Given the description of an element on the screen output the (x, y) to click on. 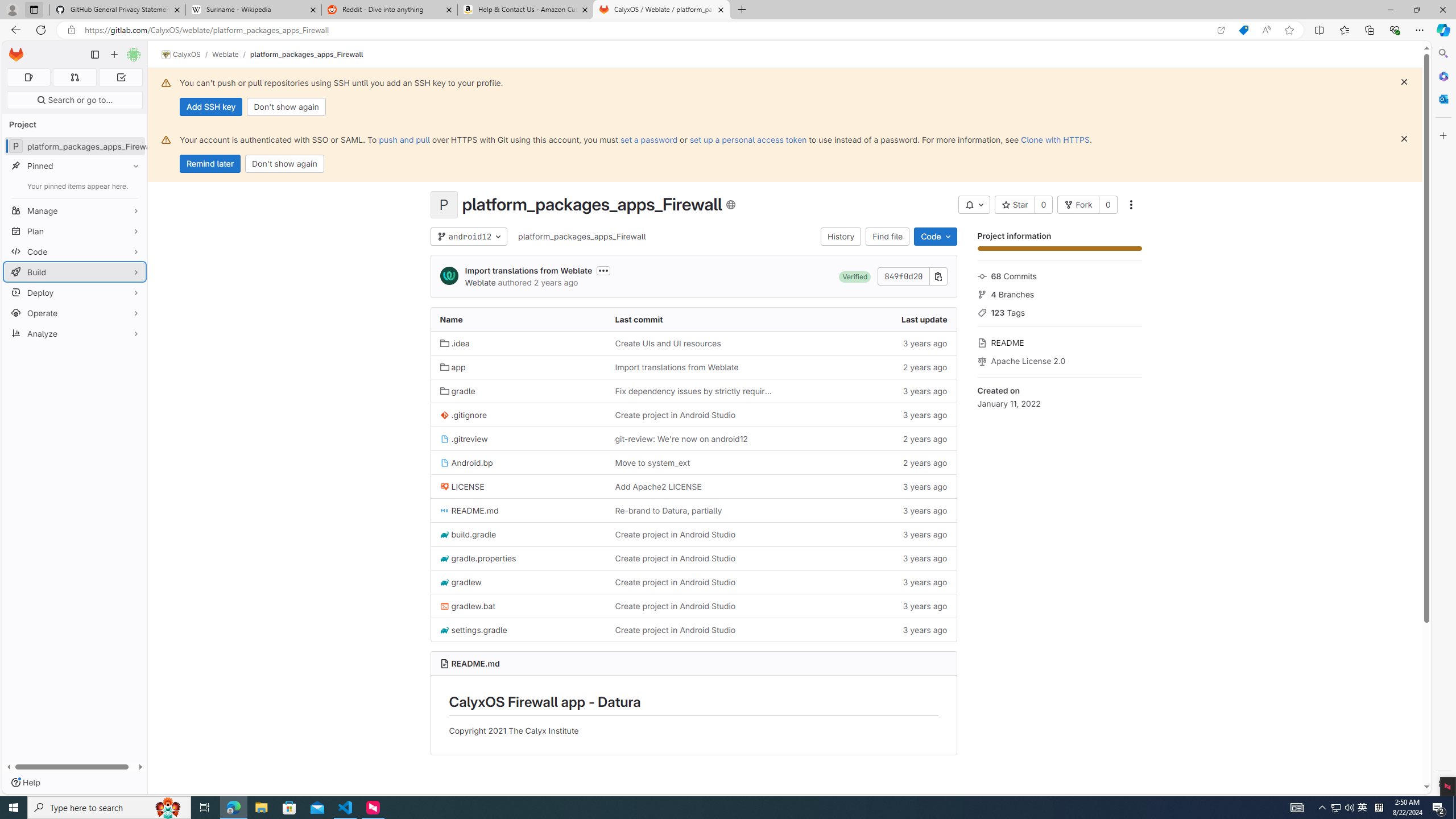
Create UIs and UI resources (667, 342)
Operate (74, 312)
Deploy (74, 292)
settings.gradle (472, 629)
LICENSE (517, 486)
Import translations from Weblate (676, 367)
.gitreview (463, 438)
Merge requests 0 (74, 76)
Remind later (210, 163)
